Given the description of an element on the screen output the (x, y) to click on. 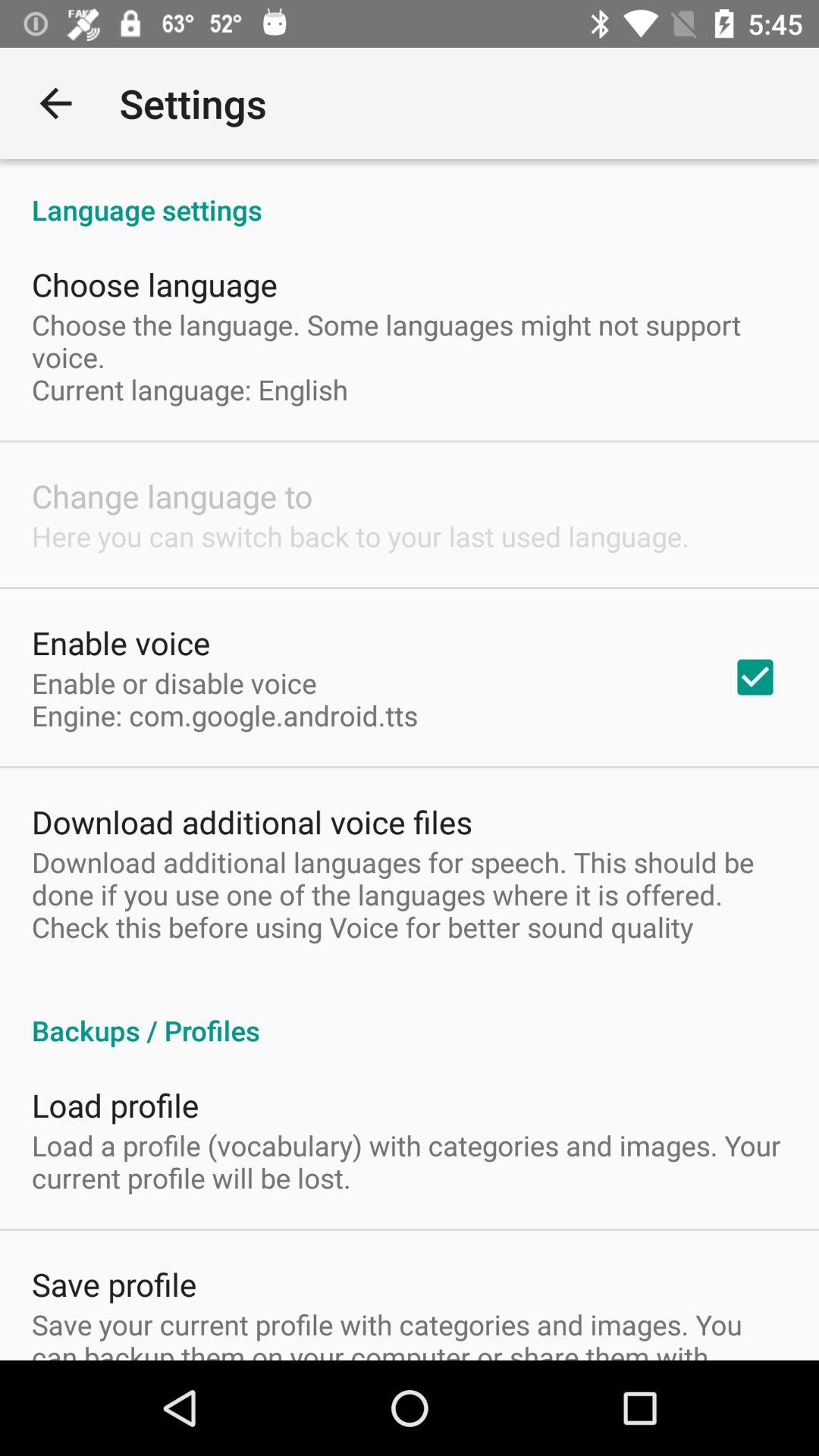
choose the item above load profile icon (409, 1014)
